Given the description of an element on the screen output the (x, y) to click on. 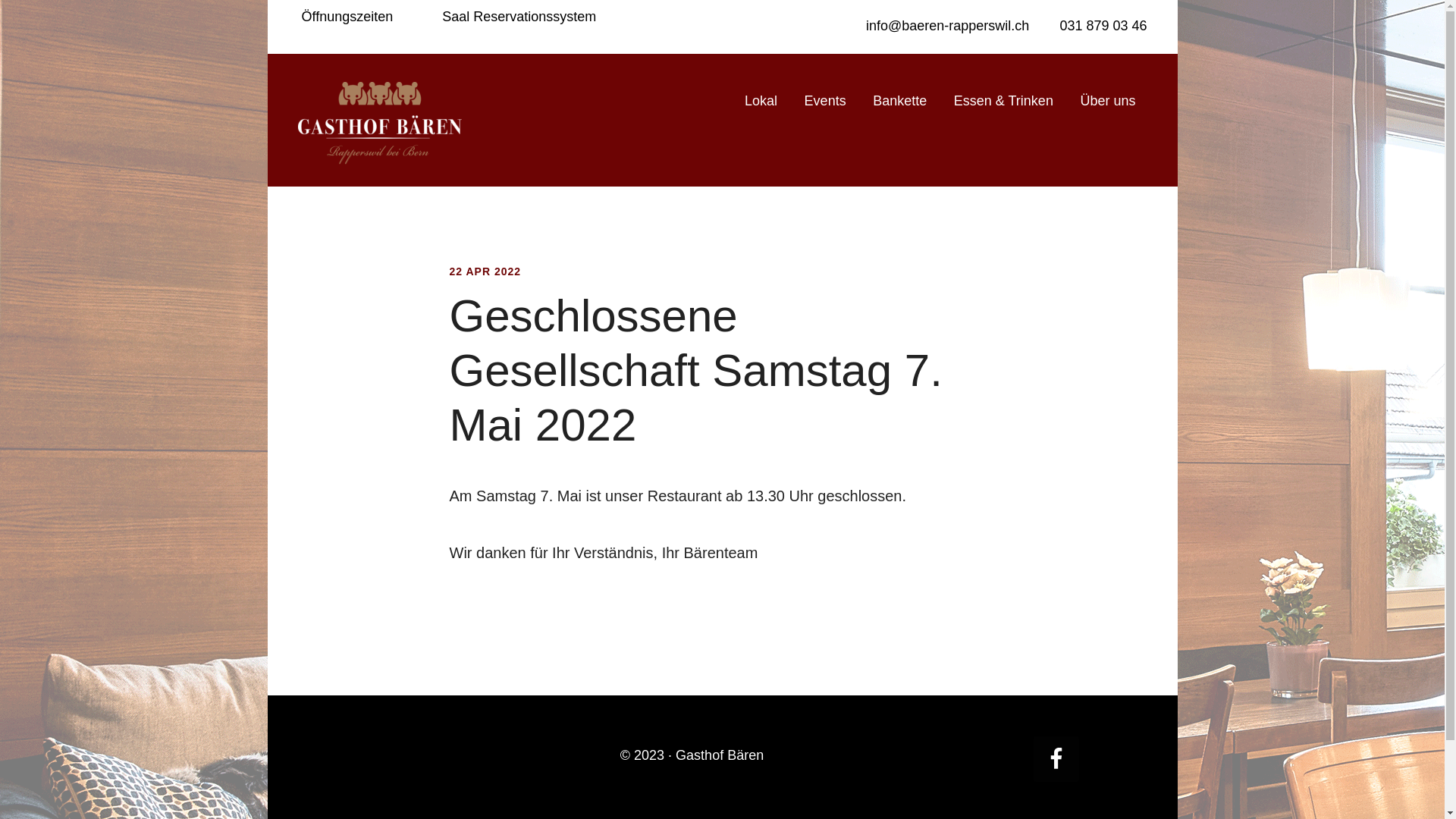
031 879 03 46 Element type: text (1100, 25)
Saal Reservationssystem Element type: text (518, 15)
Events Element type: text (825, 97)
Lokal Element type: text (760, 97)
Facebook Element type: text (1055, 758)
Bankette Element type: text (899, 97)
Essen & Trinken Element type: text (1003, 97)
info@baeren-rapperswil.ch Element type: text (945, 25)
